Given the description of an element on the screen output the (x, y) to click on. 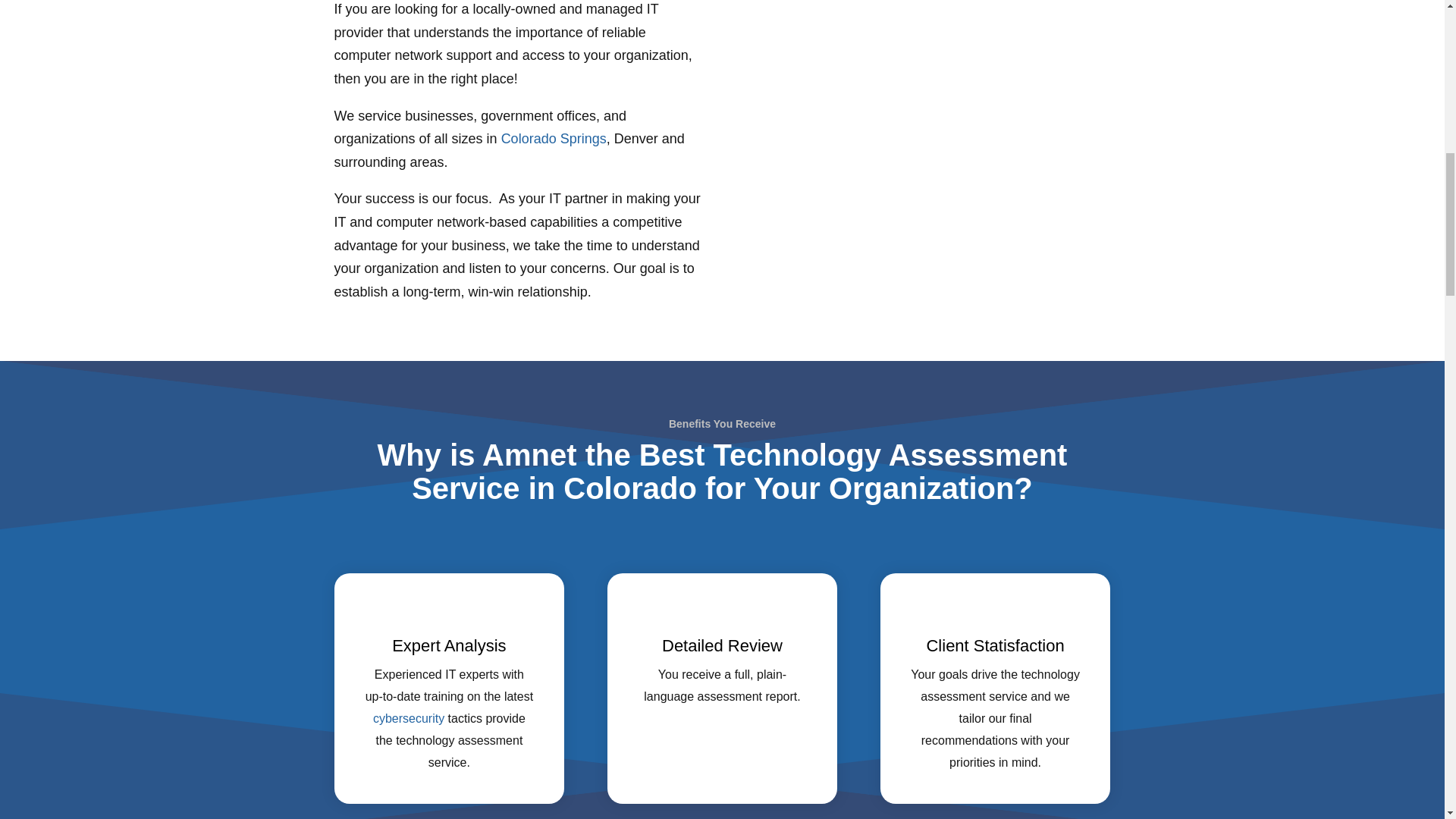
cybersecurity (408, 717)
cybersecurity (408, 717)
Colorado Springs (553, 138)
